Given the description of an element on the screen output the (x, y) to click on. 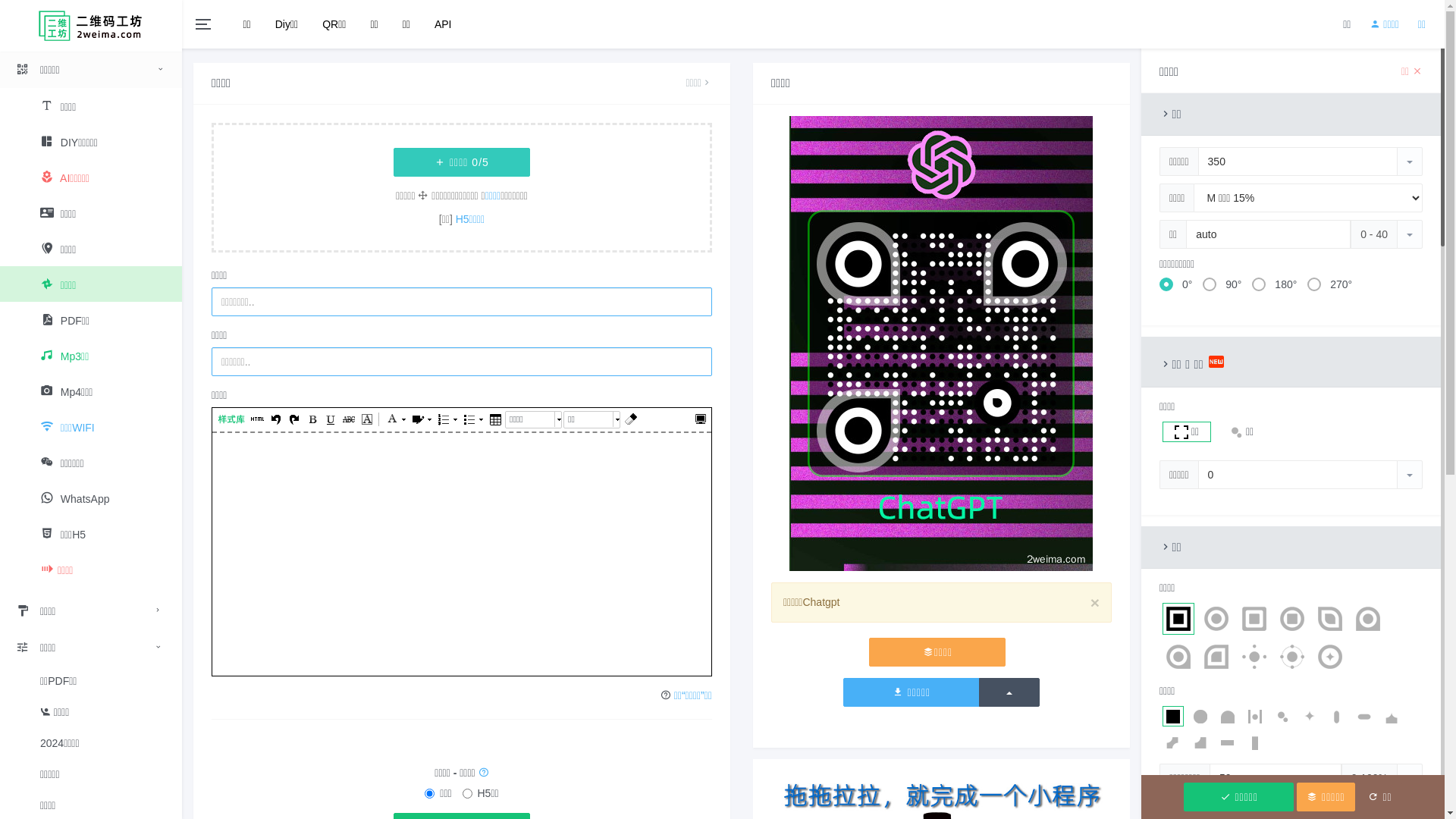
WhatsApp Element type: text (91, 497)
Toggle Dropdown Element type: text (1409, 233)
Toggle Dropdown Element type: text (1409, 474)
API Element type: text (443, 23)
Toggle Dropdown Element type: text (1409, 161)
diystyle Element type: hover (231, 419)
Toggle Dropdown Element type: text (1409, 777)
